Given the description of an element on the screen output the (x, y) to click on. 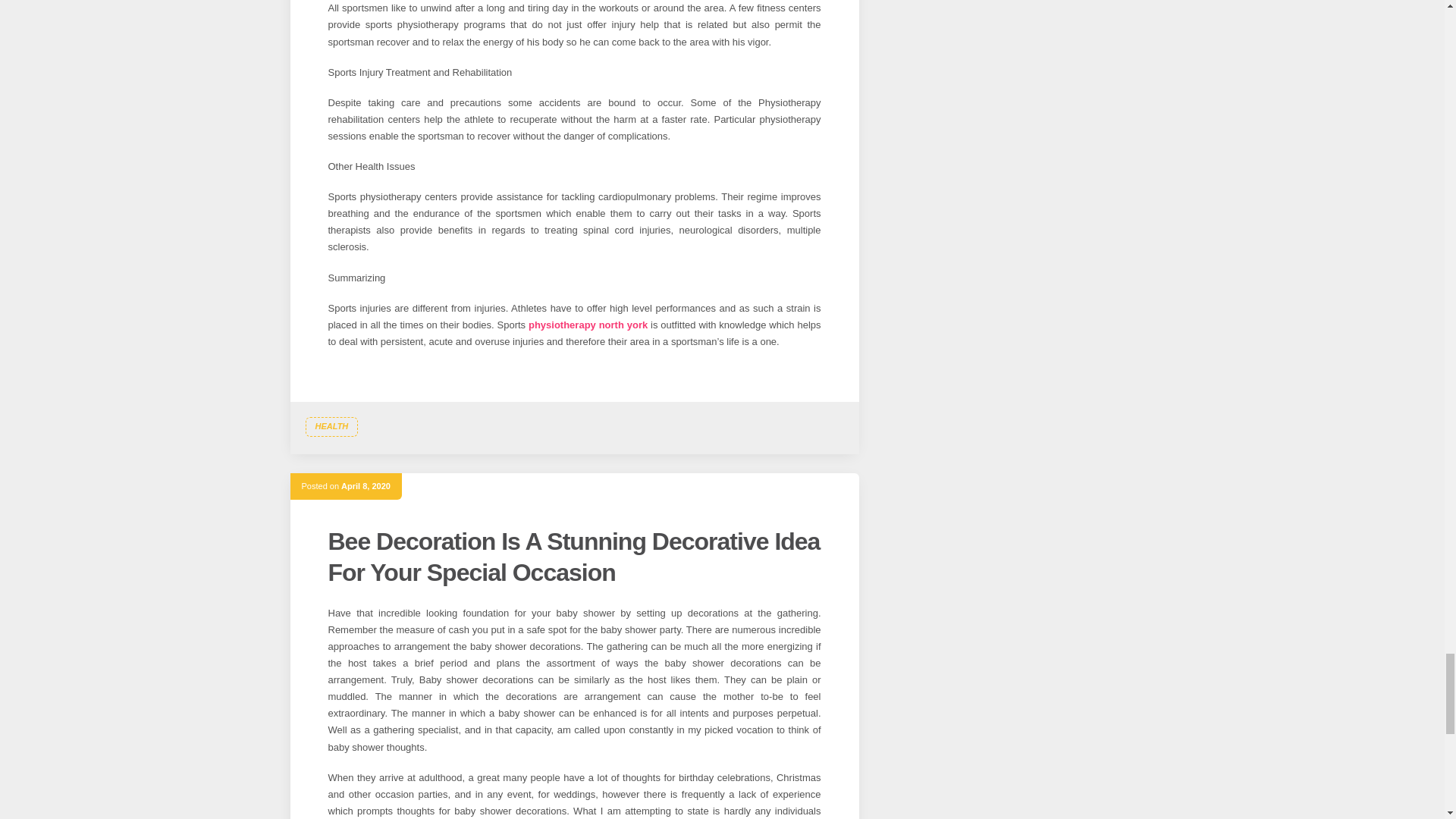
HEALTH (331, 426)
physiotherapy north york (587, 324)
April 8, 2020 (365, 485)
